Given the description of an element on the screen output the (x, y) to click on. 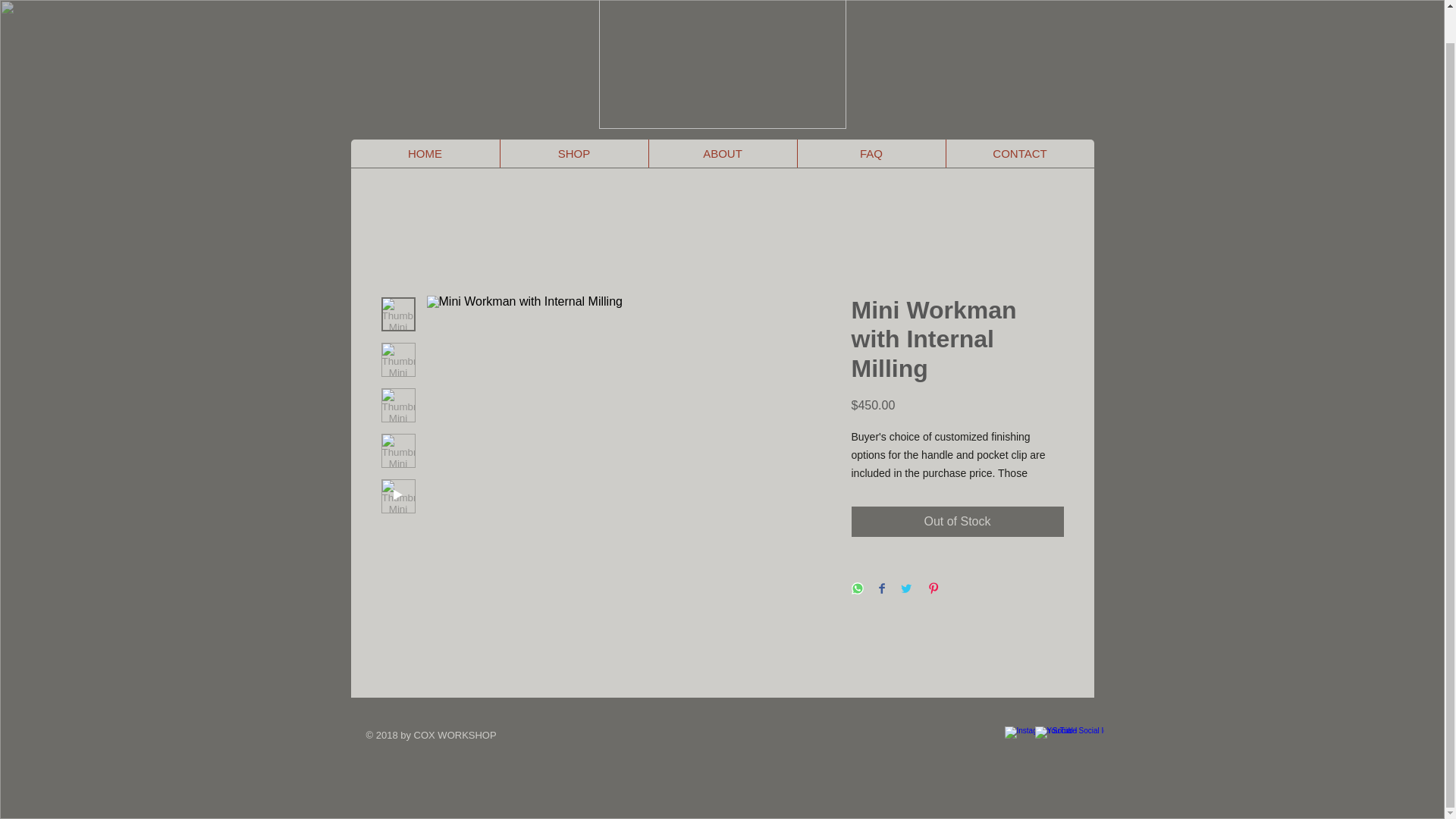
ABOUT (721, 153)
Out of Stock (956, 521)
SHOP (573, 153)
HOME (424, 153)
FAQ (870, 153)
CONTACT (1018, 153)
